Given the description of an element on the screen output the (x, y) to click on. 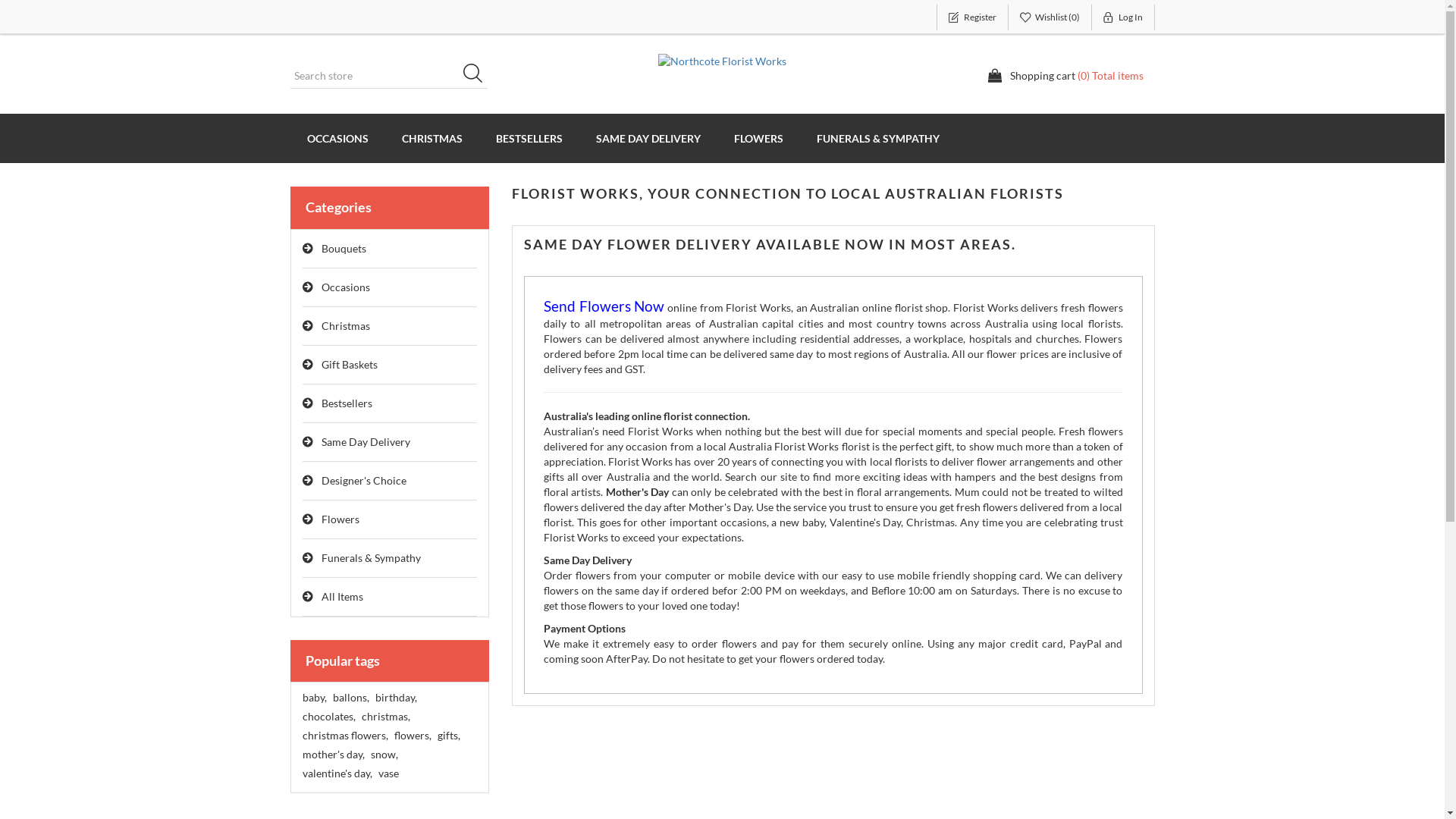
SAME DAY DELIVERY Element type: text (648, 138)
baby, Element type: text (313, 697)
Flowers Element type: text (388, 519)
FUNERALS & SYMPATHY Element type: text (877, 138)
Bouquets Element type: text (388, 248)
Occasions Element type: text (388, 287)
Shopping cart (0) Total items Element type: text (1065, 75)
birthday, Element type: text (395, 697)
CHRISTMAS Element type: text (432, 138)
snow, Element type: text (383, 754)
BESTSELLERS Element type: text (529, 138)
mother's day, Element type: text (332, 754)
Bestsellers Element type: text (388, 403)
valentine's day, Element type: text (336, 773)
christmas, Element type: text (384, 716)
gifts, Element type: text (447, 735)
christmas flowers, Element type: text (344, 735)
OCCASIONS Element type: text (336, 138)
Send Flowers Now Element type: text (603, 307)
Christmas Element type: text (388, 326)
Register Element type: text (971, 17)
All Items Element type: text (388, 596)
Designer's Choice Element type: text (388, 480)
chocolates, Element type: text (327, 716)
FLOWERS Element type: text (758, 138)
vase Element type: text (387, 773)
ballons, Element type: text (350, 697)
flowers, Element type: text (412, 735)
Log In Element type: text (1123, 17)
Same Day Delivery Element type: text (388, 442)
Funerals & Sympathy Element type: text (388, 558)
Wishlist (0) Element type: text (1050, 17)
Gift Baskets Element type: text (388, 364)
